Given the description of an element on the screen output the (x, y) to click on. 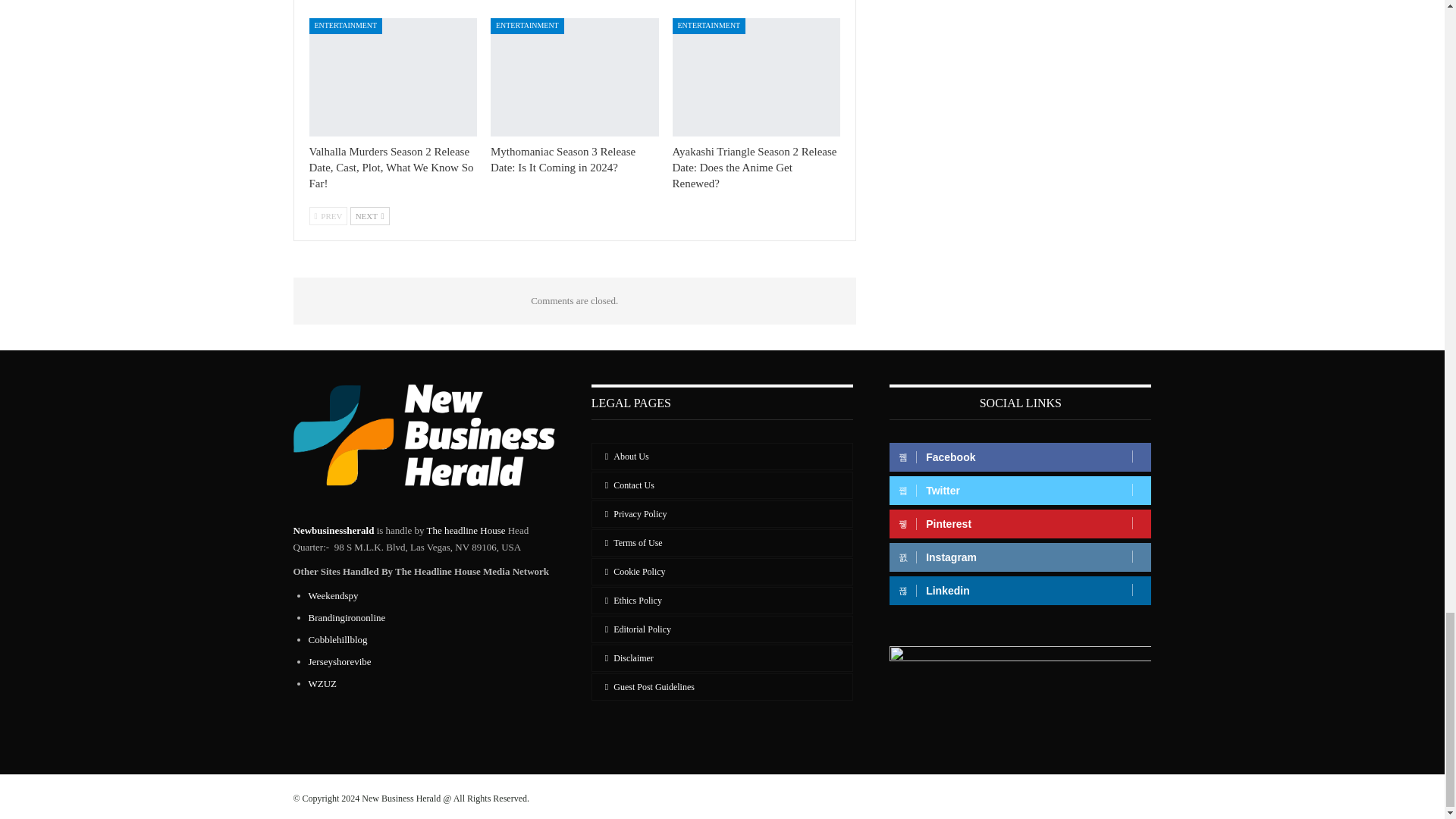
Mythomaniac Season 3 Release Date: Is It Coming in 2024? (562, 159)
Mythomaniac Season 3 Release Date: Is It Coming in 2024? (574, 76)
